Given the description of an element on the screen output the (x, y) to click on. 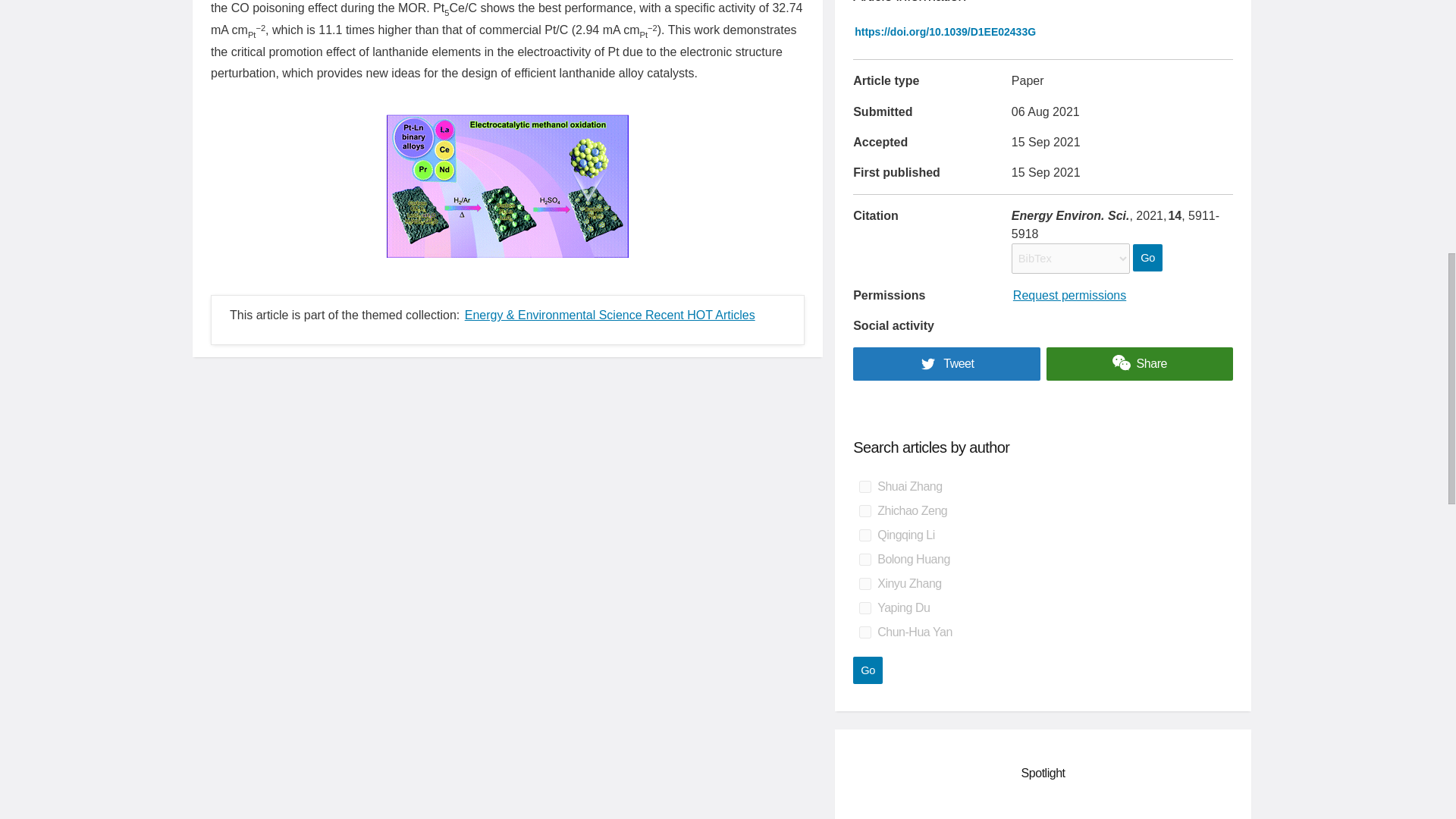
on (864, 583)
on (864, 535)
3rd party ad content (1043, 809)
on (864, 607)
on (864, 486)
Link to landing page via DOI (944, 31)
Go (867, 669)
Go (867, 669)
on (864, 559)
on (864, 632)
